Given the description of an element on the screen output the (x, y) to click on. 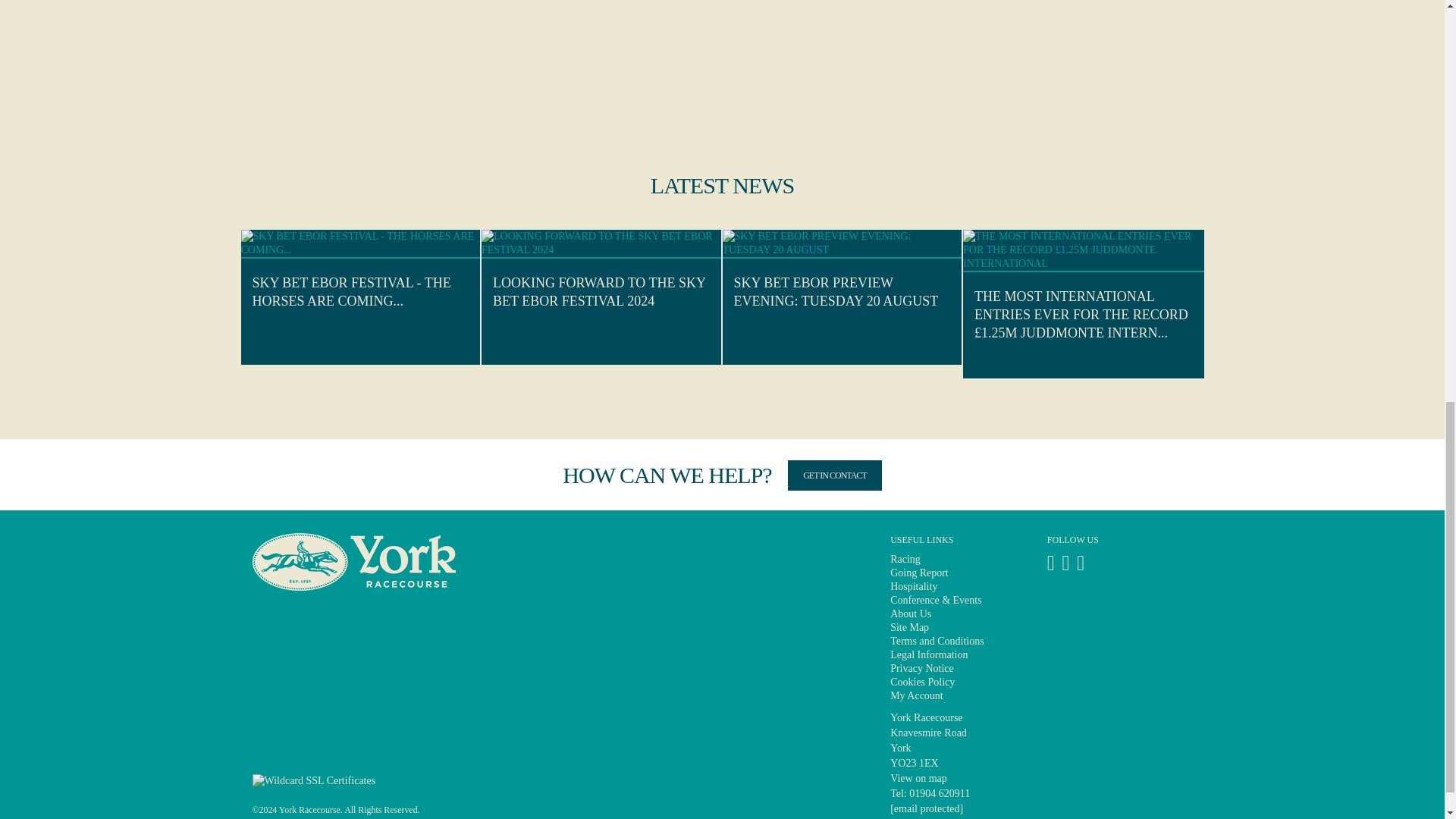
SSL Certificate (313, 780)
SSL Certificates (313, 779)
